Given the description of an element on the screen output the (x, y) to click on. 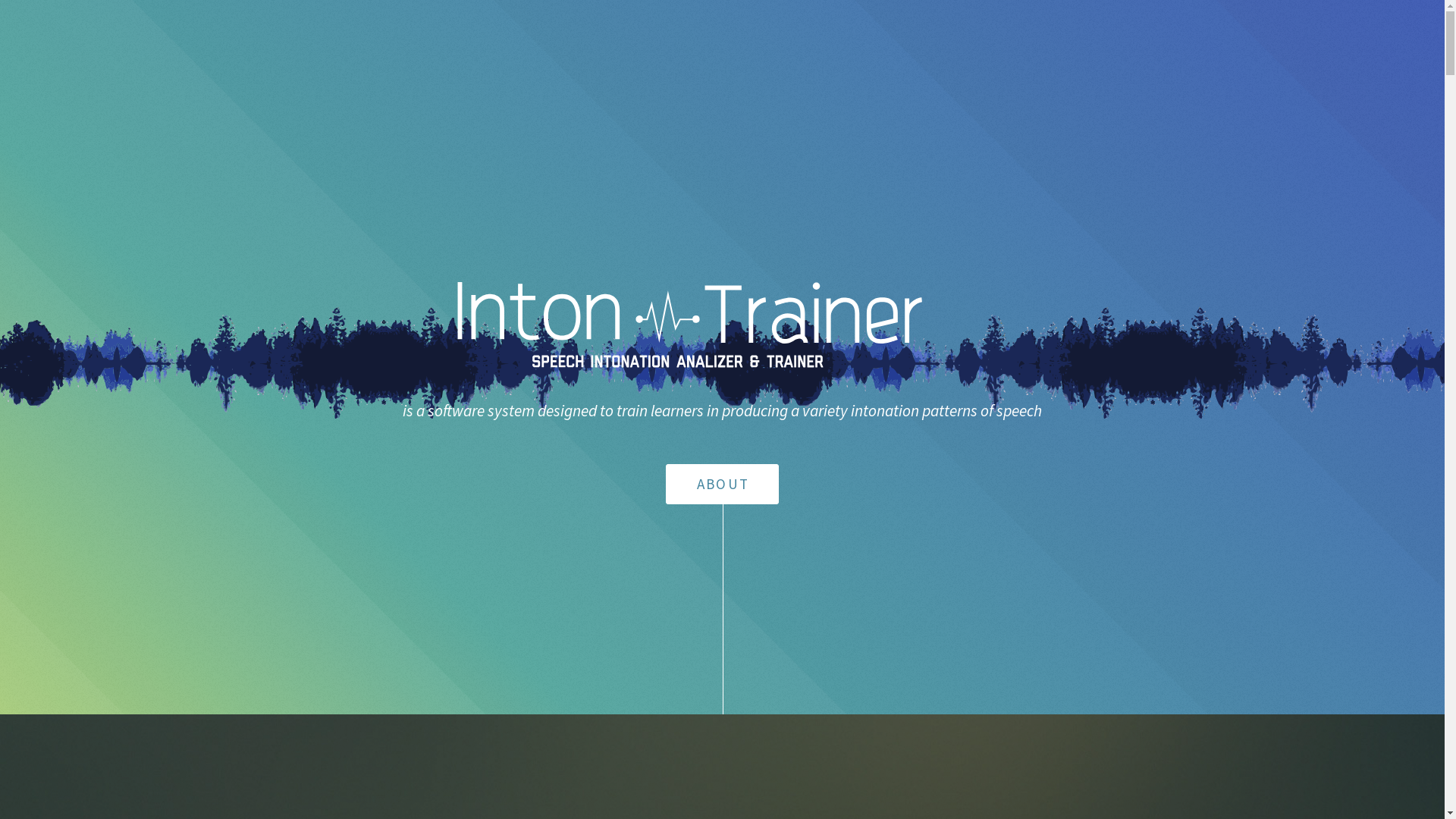
ABOUT Element type: text (721, 484)
